Given the description of an element on the screen output the (x, y) to click on. 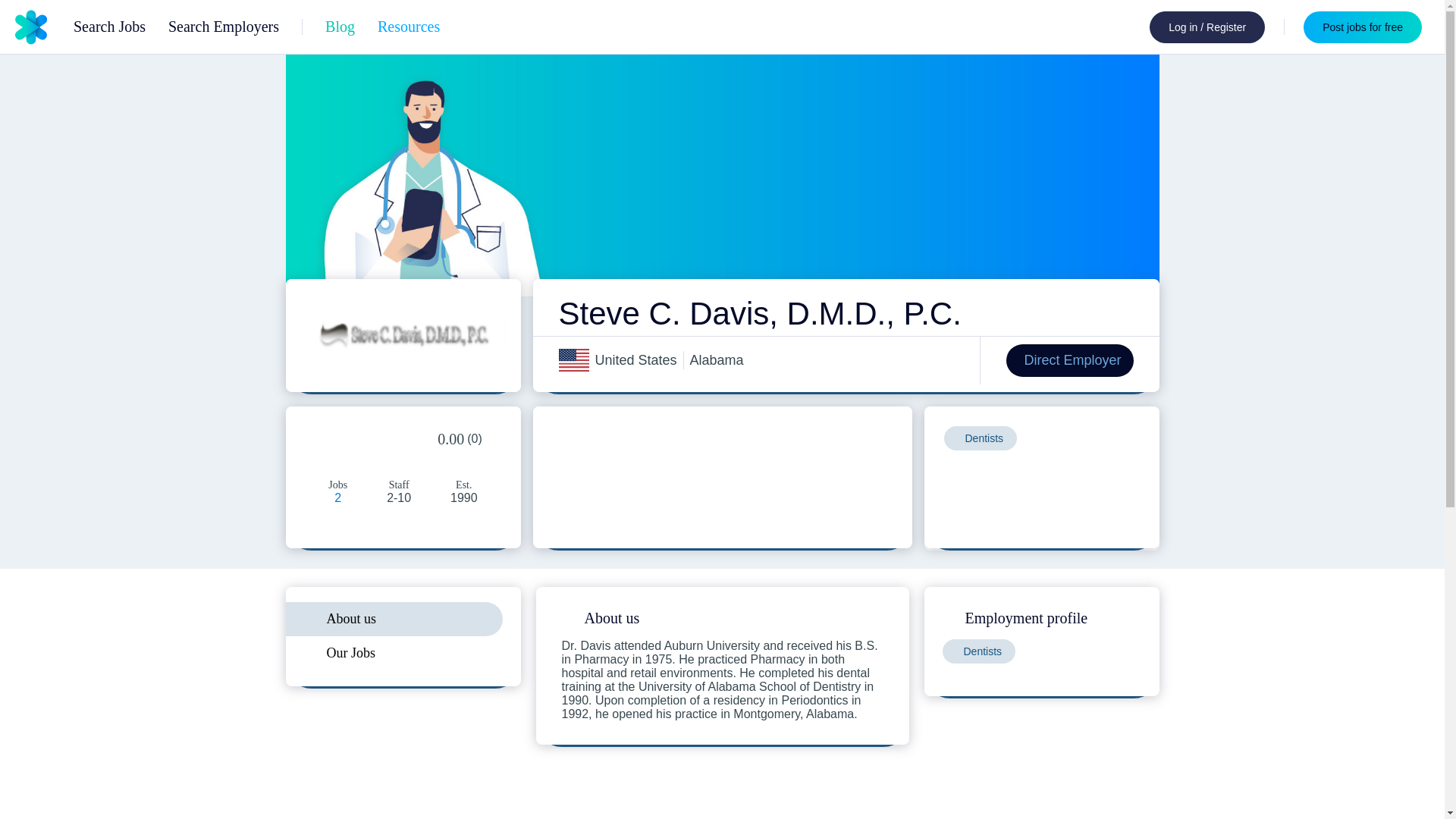
About us (402, 618)
Resources (410, 26)
Our Jobs (402, 653)
Search Employers (223, 26)
Post jobs for free (1362, 26)
Search Jobs (109, 26)
